Given the description of an element on the screen output the (x, y) to click on. 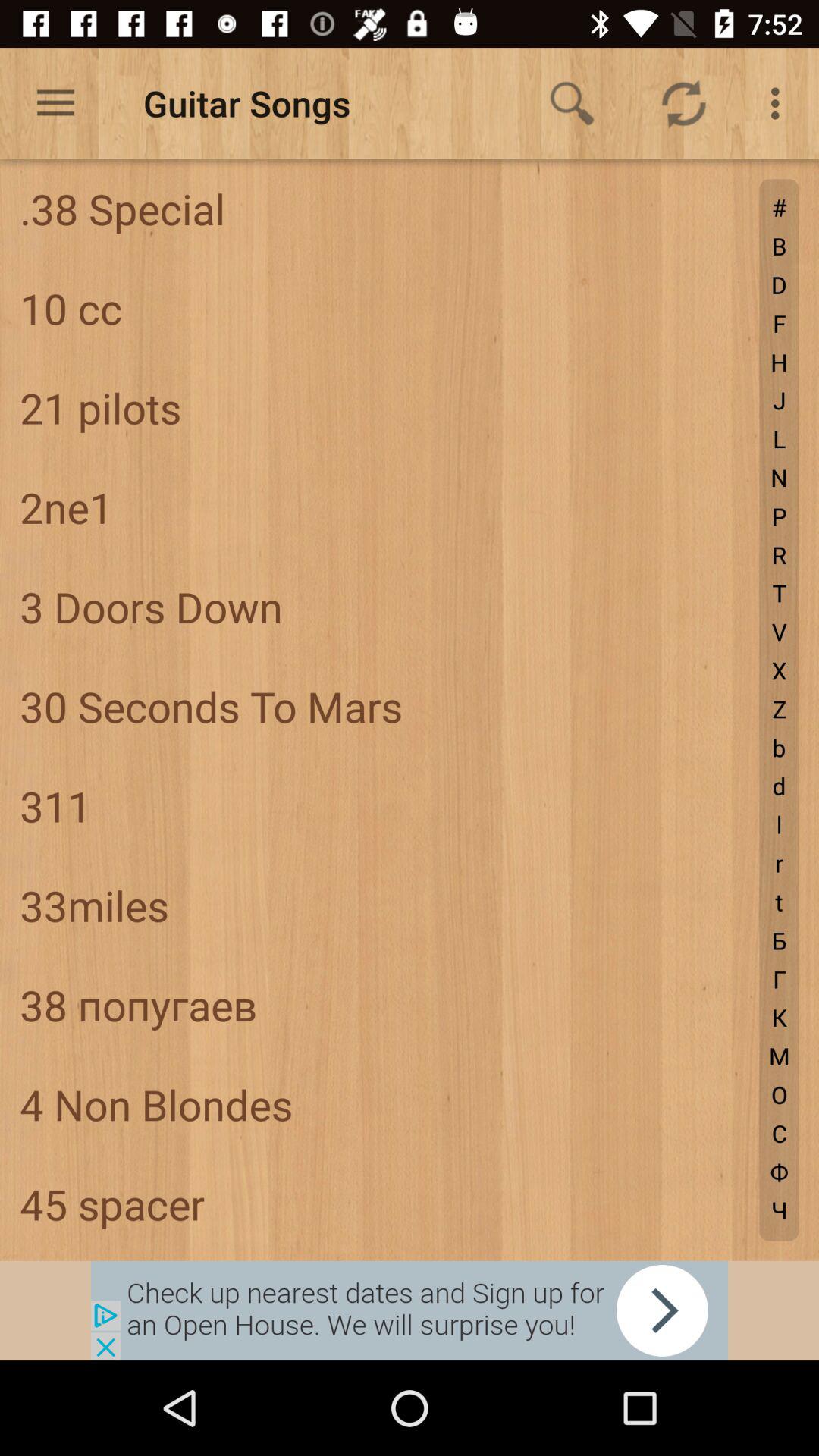
advertisement (409, 1310)
